Given the description of an element on the screen output the (x, y) to click on. 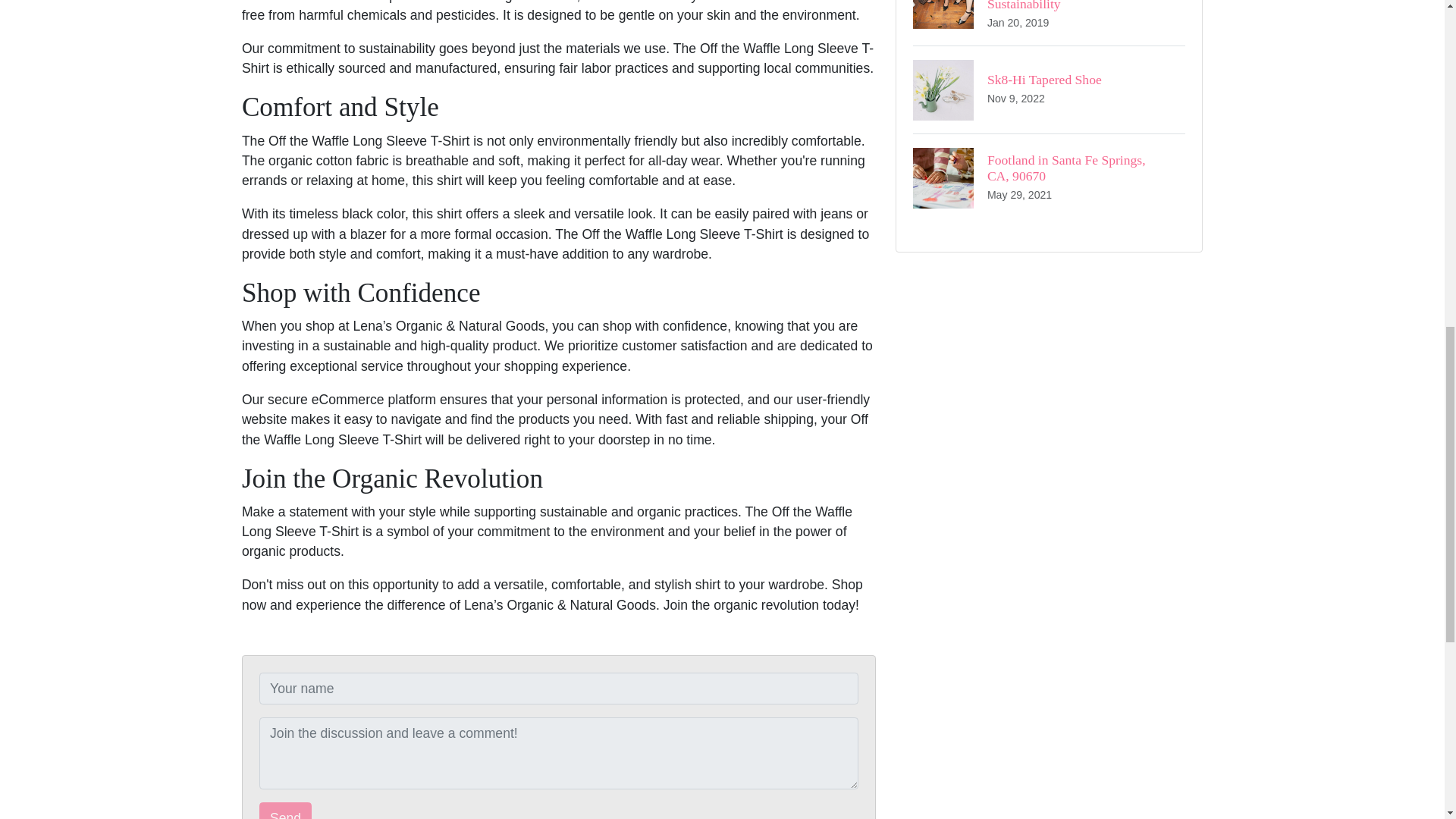
Send (1048, 177)
Send (285, 810)
